Given the description of an element on the screen output the (x, y) to click on. 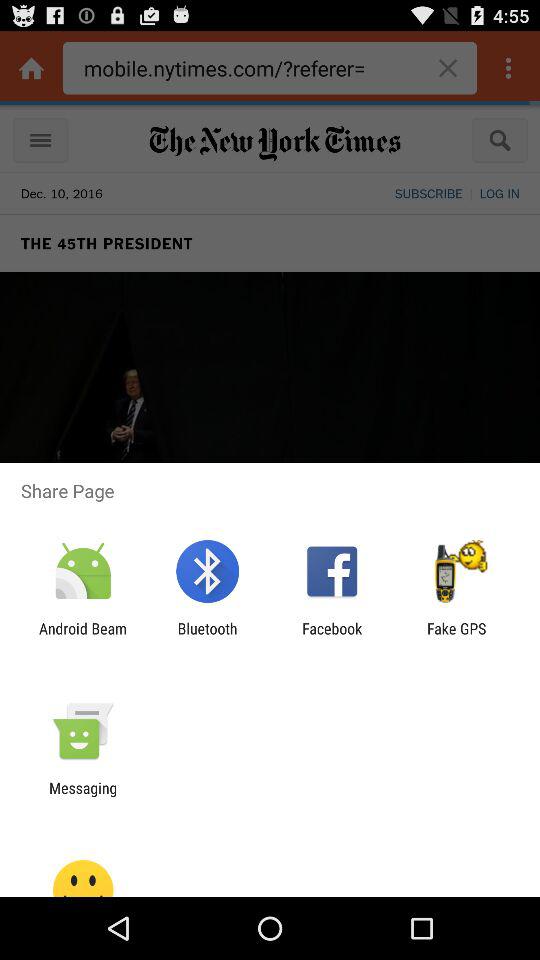
select item to the left of the fake gps item (332, 637)
